Given the description of an element on the screen output the (x, y) to click on. 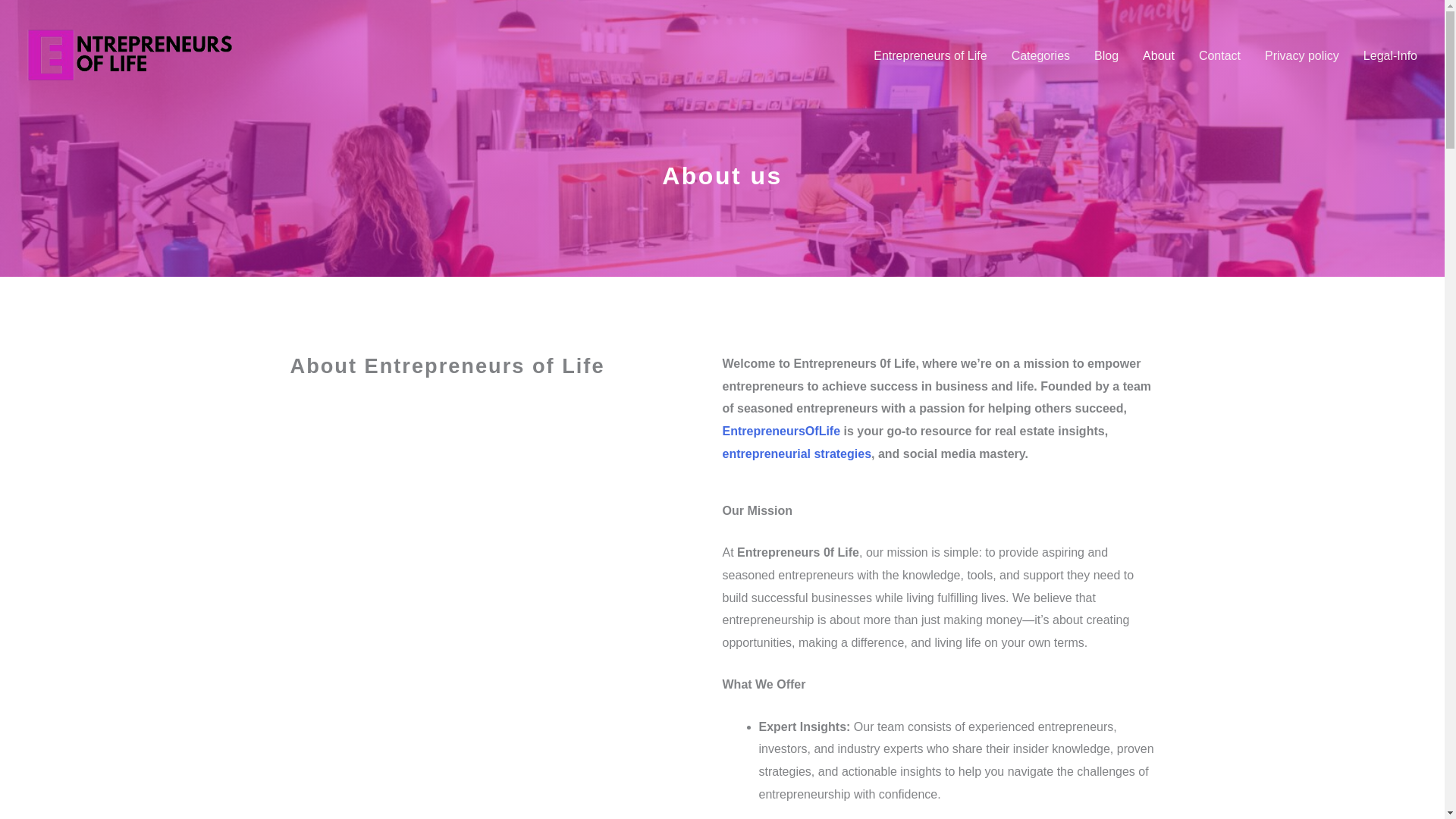
Legal-Info (1390, 55)
Blog (1106, 55)
Contact (1219, 55)
Categories (1039, 55)
Entrepreneurs of Life (929, 55)
entrepreneurial strategies (796, 453)
About (1158, 55)
Privacy policy (1301, 55)
EntrepreneursOfLife (781, 431)
